Given the description of an element on the screen output the (x, y) to click on. 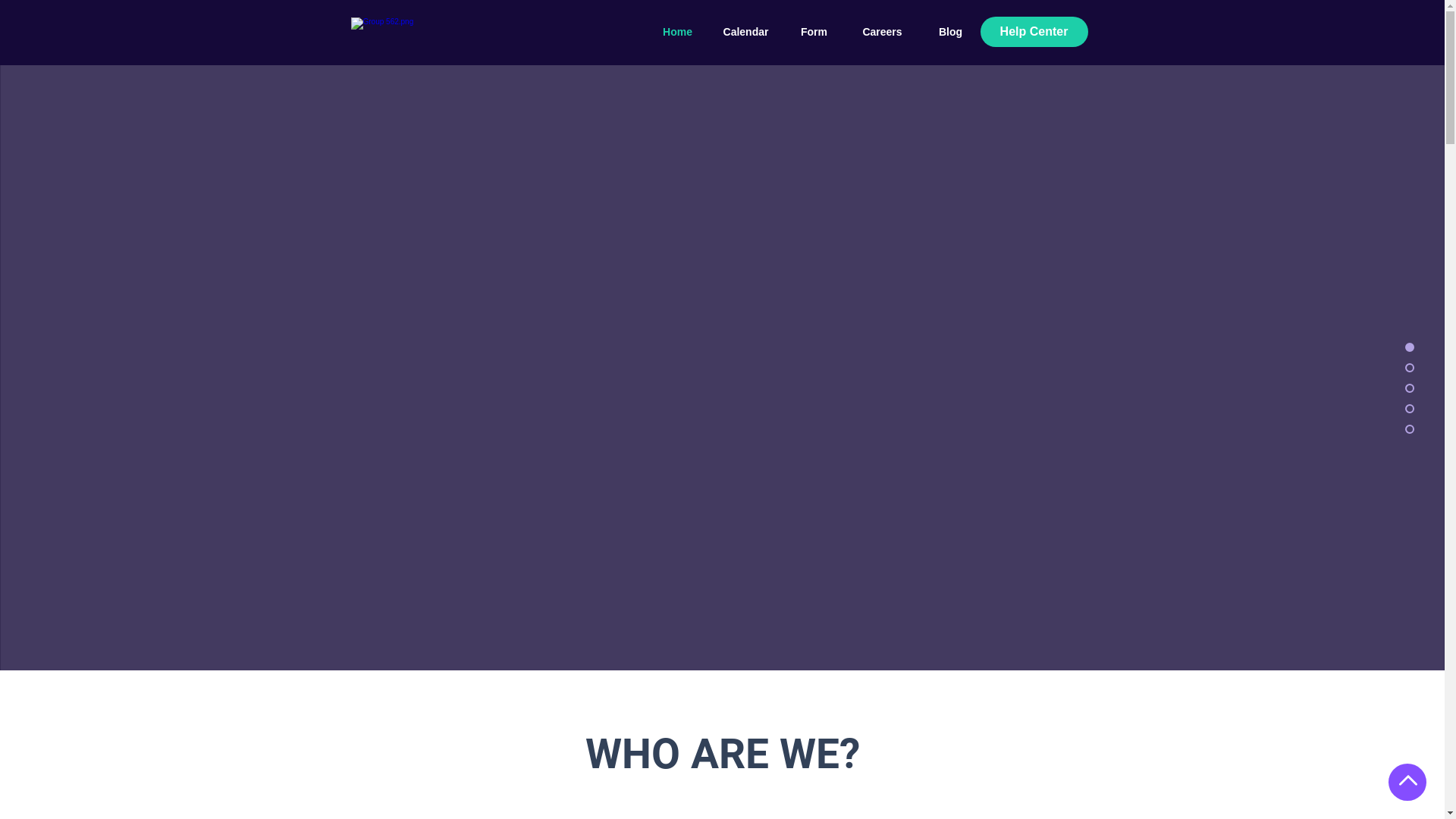
Form Element type: text (813, 31)
Blog Element type: text (950, 31)
Calendar Element type: text (745, 31)
Home Element type: text (677, 31)
Help Center Element type: text (1033, 31)
Careers Element type: text (881, 31)
